Given the description of an element on the screen output the (x, y) to click on. 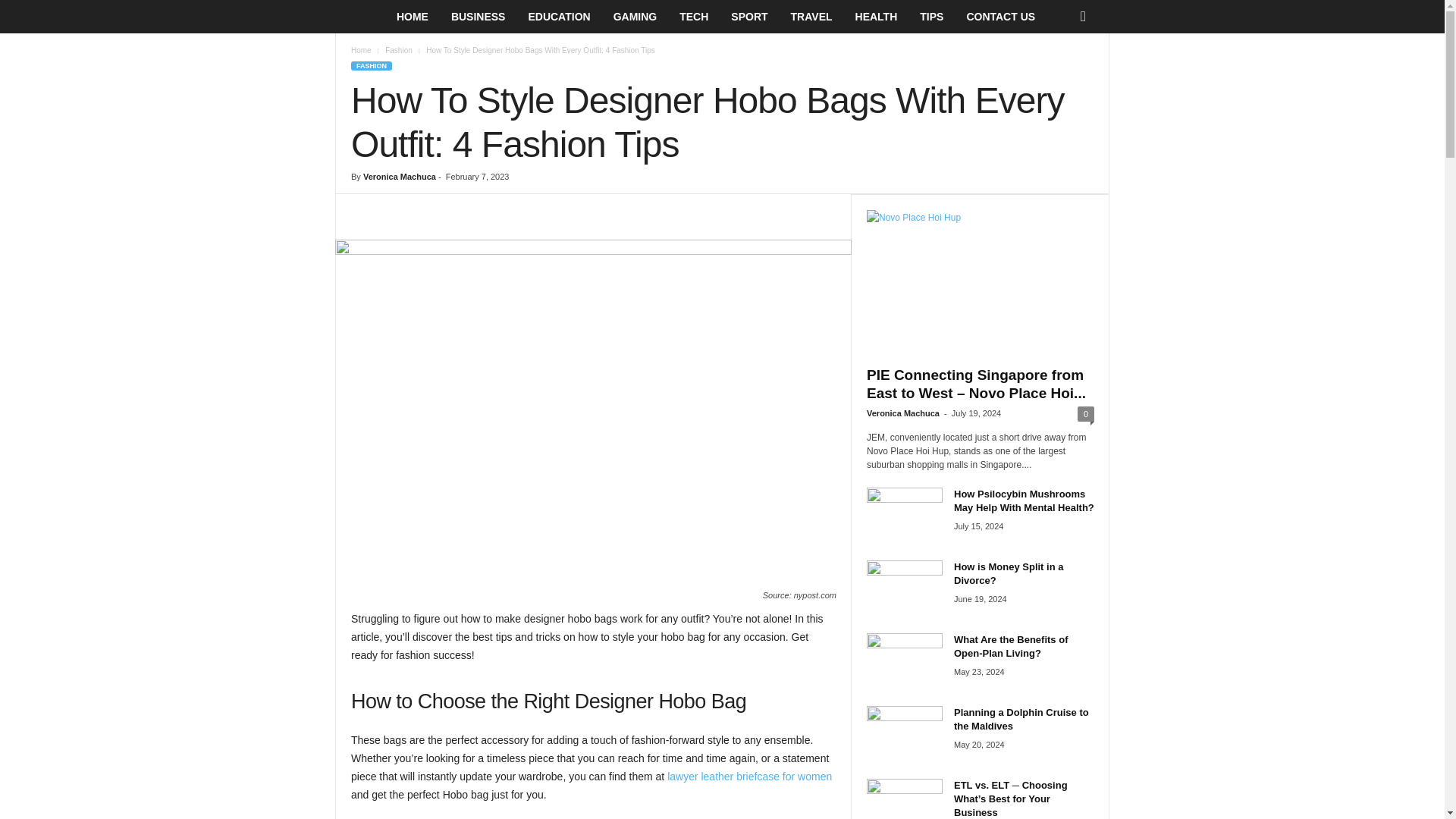
View all posts in Fashion (398, 49)
Home (360, 49)
CONTACT US (1000, 16)
TECH (693, 16)
Veronica Machuca (398, 175)
HOME (412, 16)
TRAVEL (811, 16)
BUSINESS (477, 16)
TIPS (931, 16)
lawyer leather briefcase for women (748, 776)
GAMING (635, 16)
SPORT (748, 16)
FASHION (370, 65)
Fashion (398, 49)
